Given the description of an element on the screen output the (x, y) to click on. 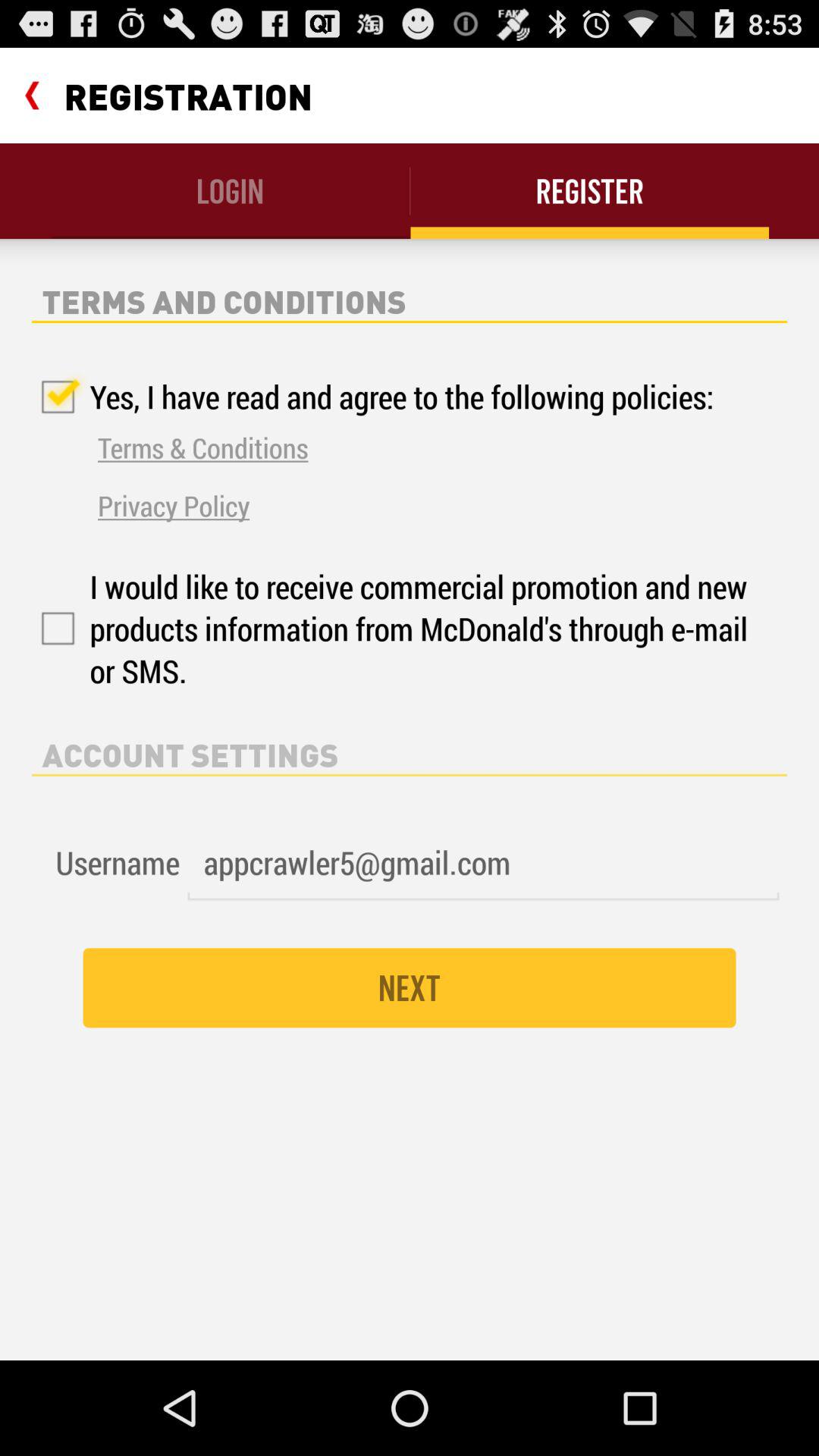
launch item to the right of the username item (483, 863)
